Given the description of an element on the screen output the (x, y) to click on. 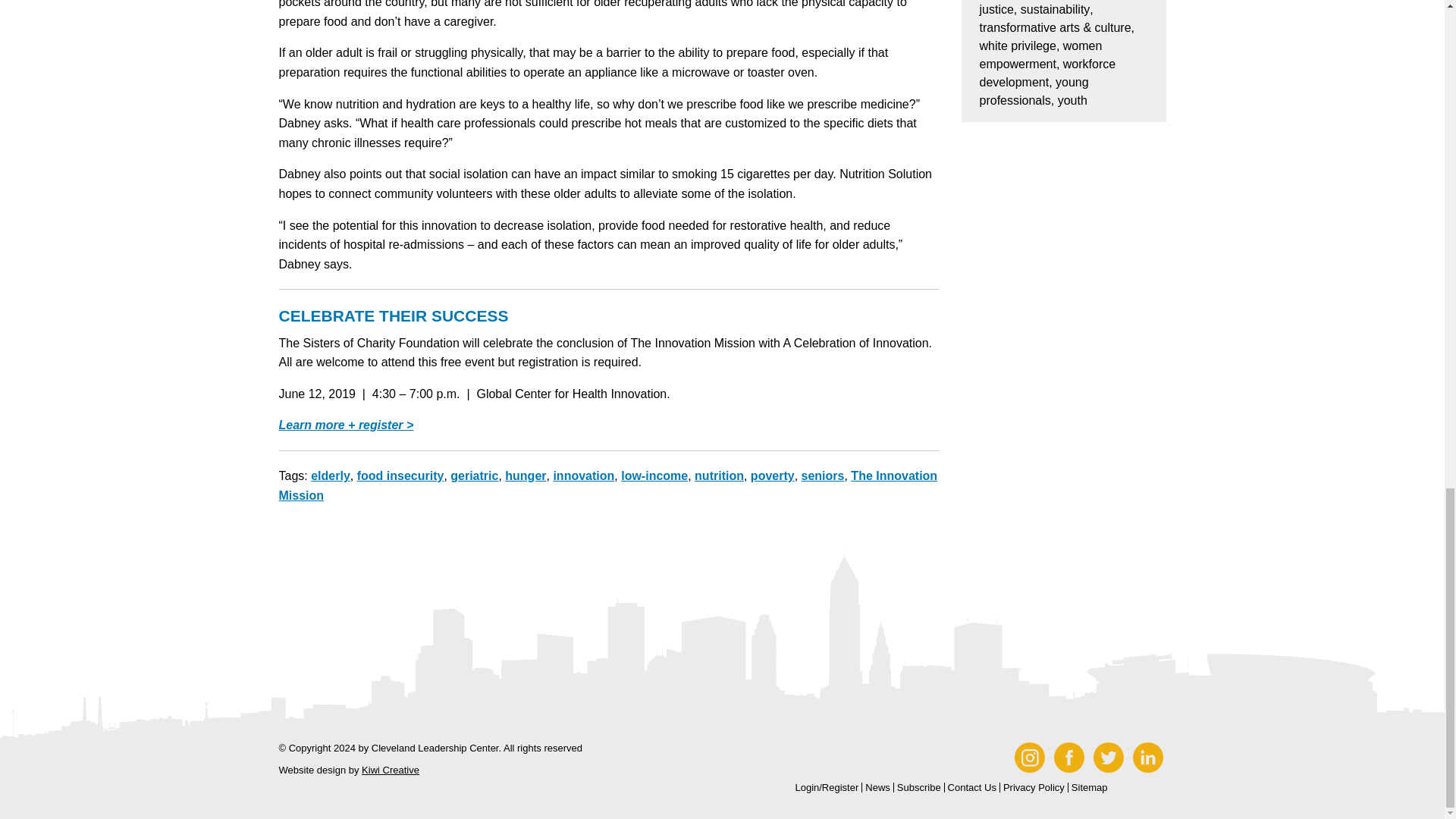
Kiwi Creative Website Link (390, 769)
Follow Cleveland Leadership Center on Facebook (1070, 757)
Follow Cleveland Leadership Center on LinkedIn (1147, 757)
Follow Cleveland Leadership Center on Instagram (1031, 757)
Follow Cleveland Leadership Center on Twitter (1109, 757)
